Given the description of an element on the screen output the (x, y) to click on. 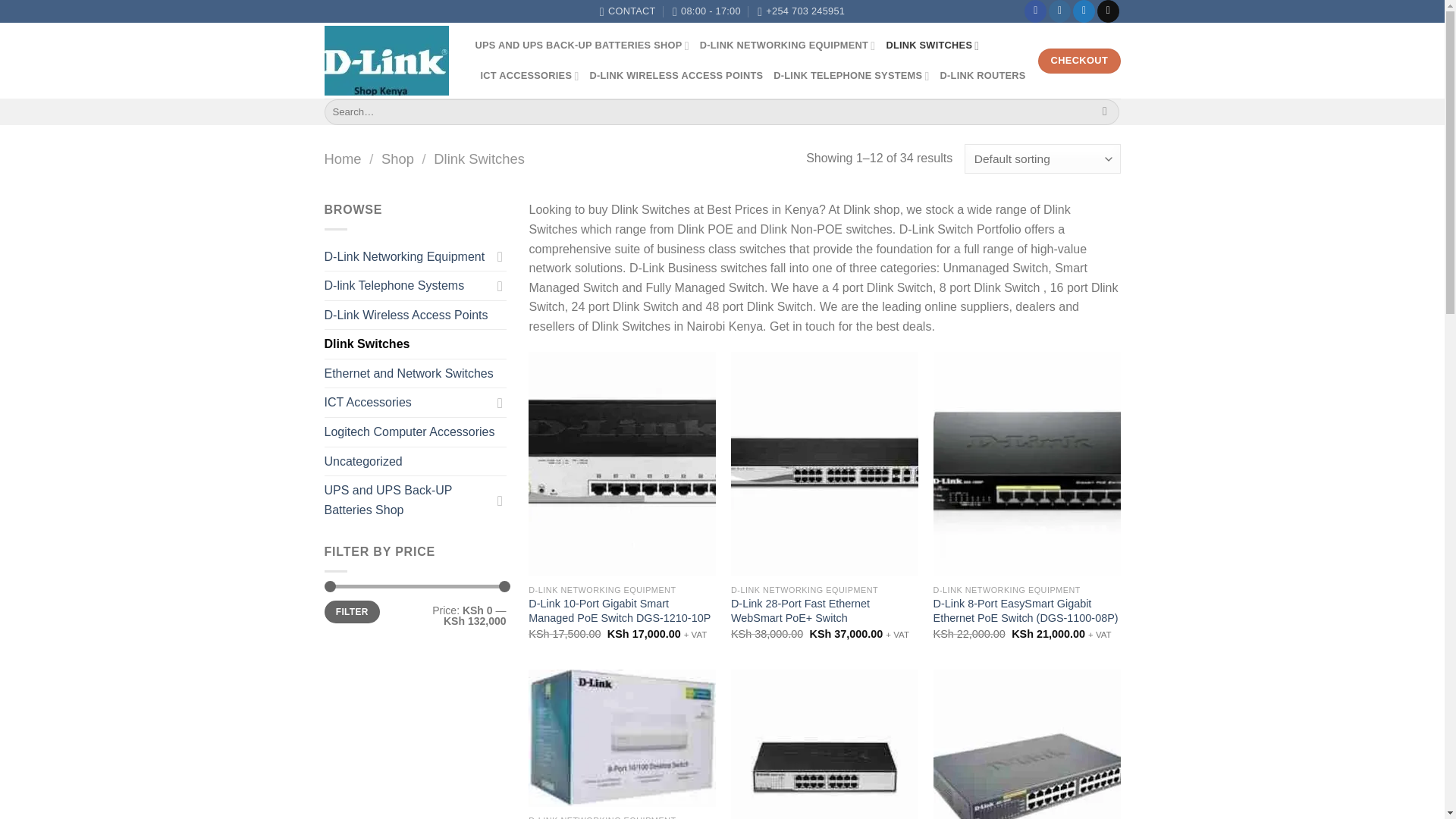
D-LINK NETWORKING EQUIPMENT (788, 45)
D-LINK WIRELESS ACCESS POINTS (675, 75)
UPS AND UPS BACK-UP BATTERIES SHOP (581, 45)
Shop (397, 158)
CHECKOUT (1078, 60)
08:00 - 17:00  (706, 11)
Search (1105, 112)
Follow on Facebook (1035, 11)
CONTACT (627, 11)
Dlink Switches (478, 158)
Home (342, 158)
D-LINK TELEPHONE SYSTEMS (850, 75)
ICT ACCESSORIES (529, 75)
Home (342, 158)
Send us an email (1108, 11)
